Given the description of an element on the screen output the (x, y) to click on. 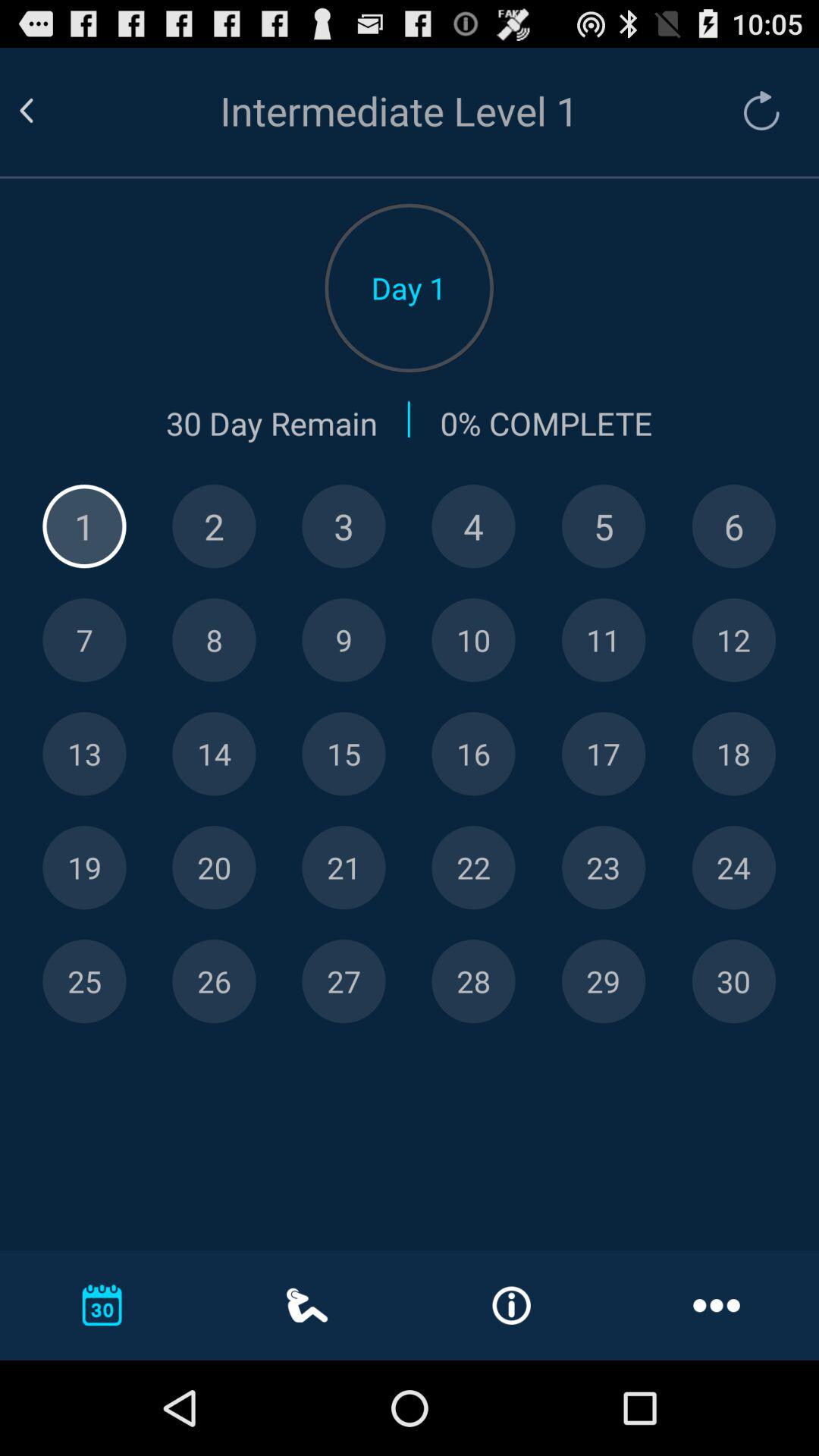
select seven (84, 639)
